Given the description of an element on the screen output the (x, y) to click on. 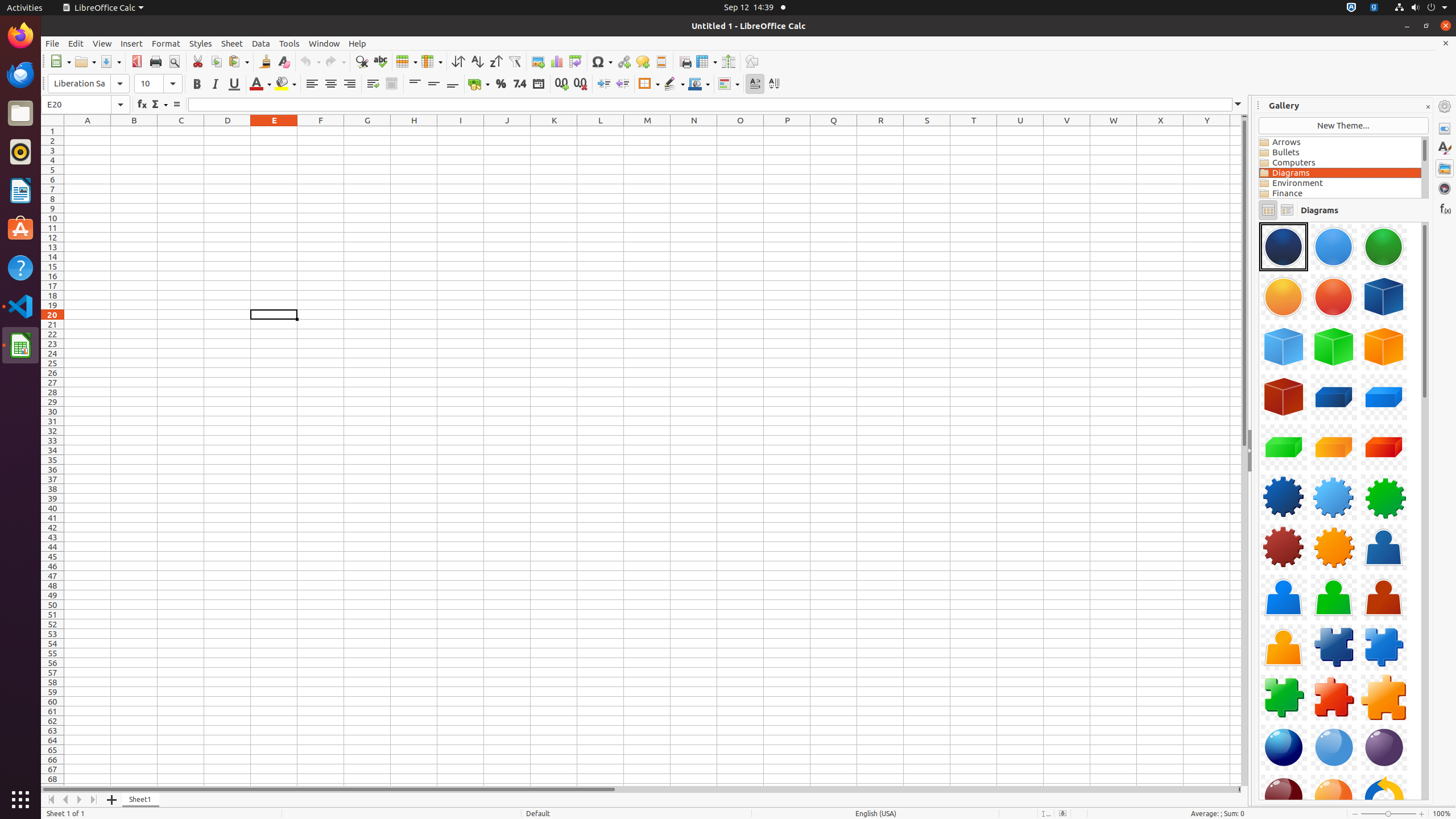
U1 Element type: table-cell (1020, 130)
T1 Element type: table-cell (973, 130)
Component-PuzzlePiece04-Red Element type: list-item (1333, 696)
Pivot Table Element type: push-button (574, 61)
A1 Element type: table-cell (87, 130)
